Given the description of an element on the screen output the (x, y) to click on. 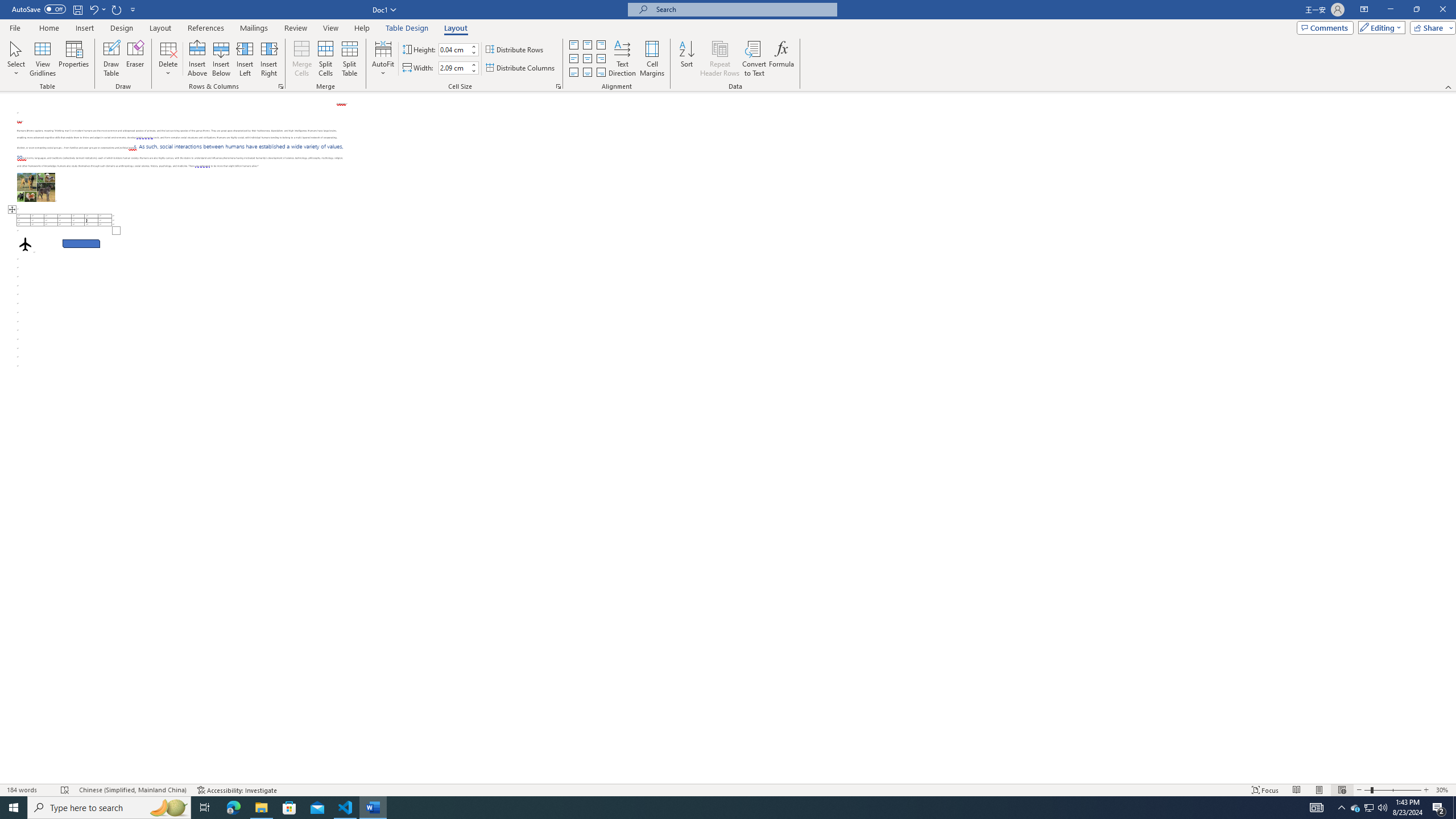
Split Table (349, 58)
Properties... (558, 85)
Draw Table (111, 58)
Insert Right (269, 58)
Merge Cells (301, 58)
Repeat Header Rows (719, 58)
Zoom (1392, 790)
Less (473, 70)
View (330, 28)
Distribute Rows (515, 49)
Select (16, 58)
Align Center Justified (573, 58)
Layout (455, 28)
